Given the description of an element on the screen output the (x, y) to click on. 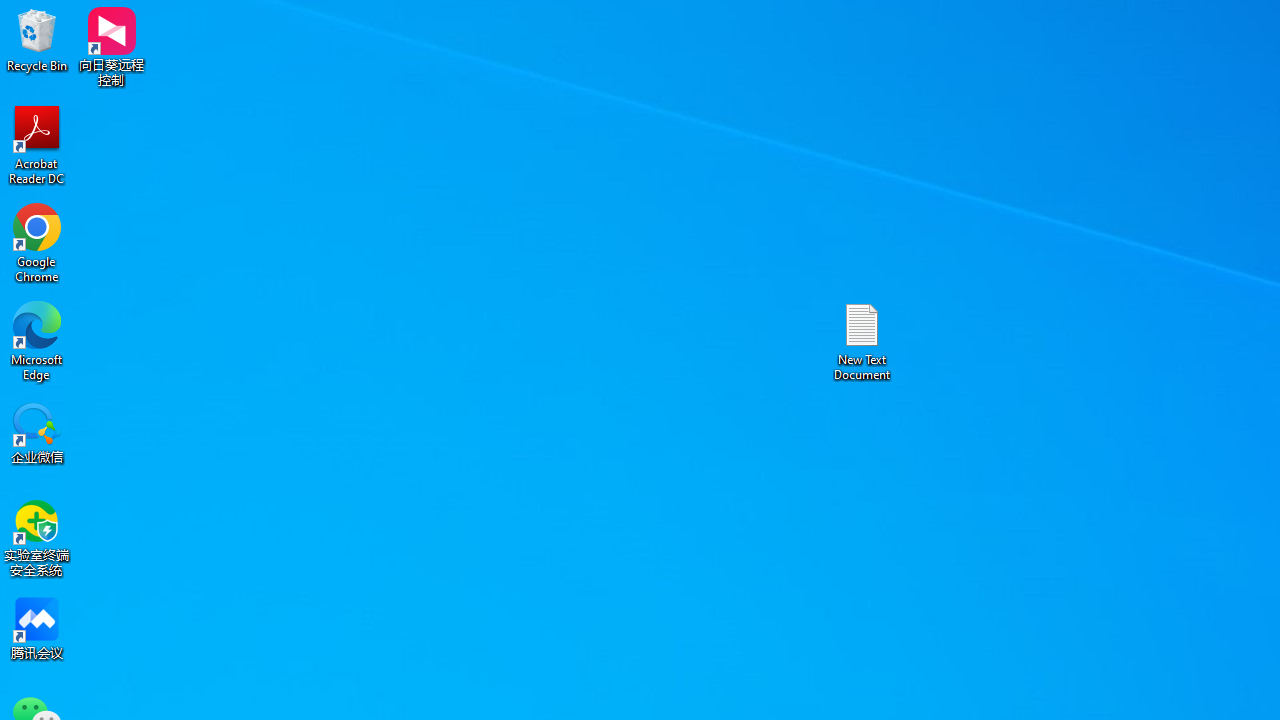
Google Chrome (37, 242)
Microsoft Edge (37, 340)
Recycle Bin (37, 39)
New Text Document (861, 340)
Acrobat Reader DC (37, 144)
